Given the description of an element on the screen output the (x, y) to click on. 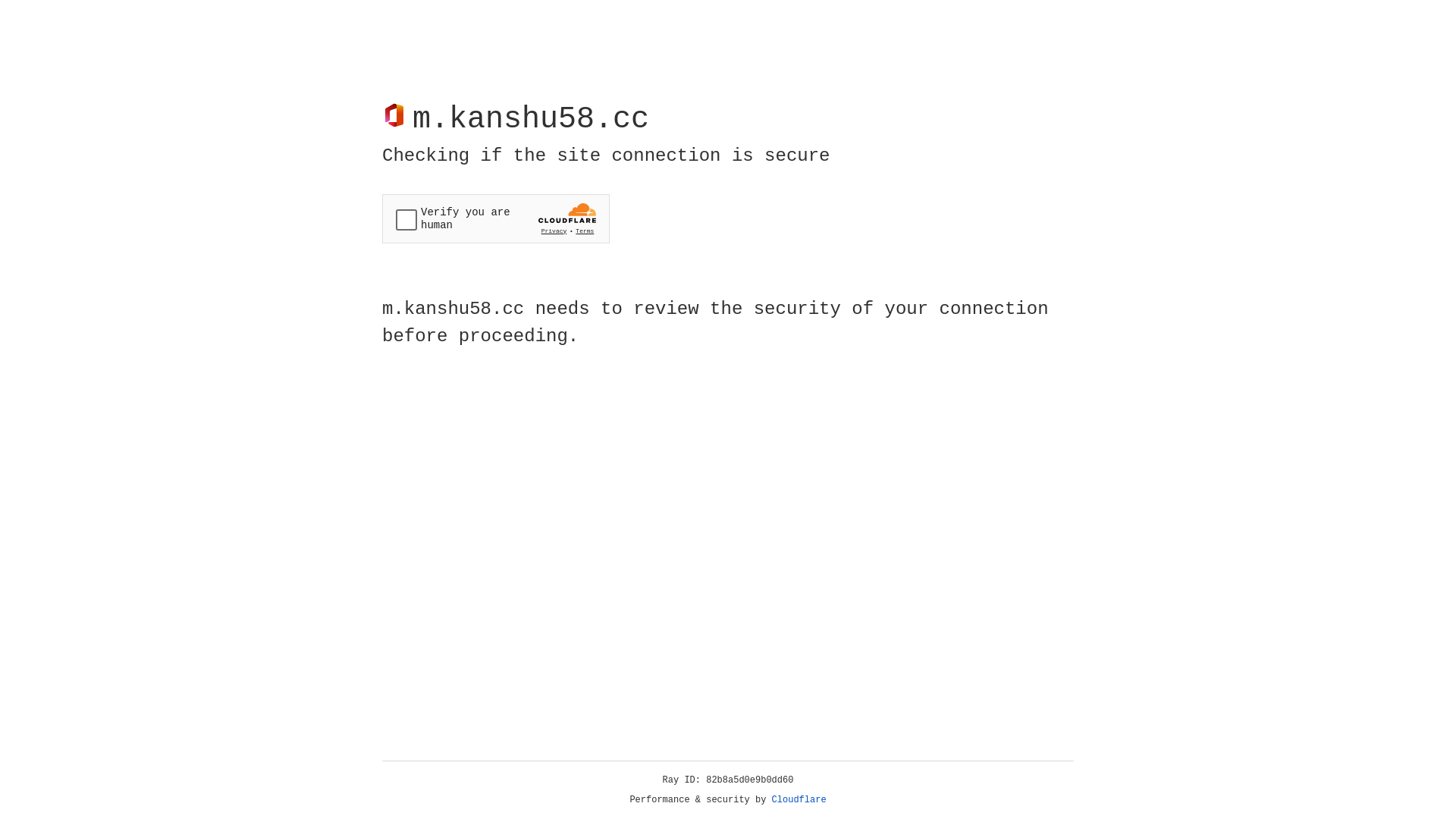
Cloudflare Element type: text (798, 799)
Widget containing a Cloudflare security challenge Element type: hover (495, 218)
